Given the description of an element on the screen output the (x, y) to click on. 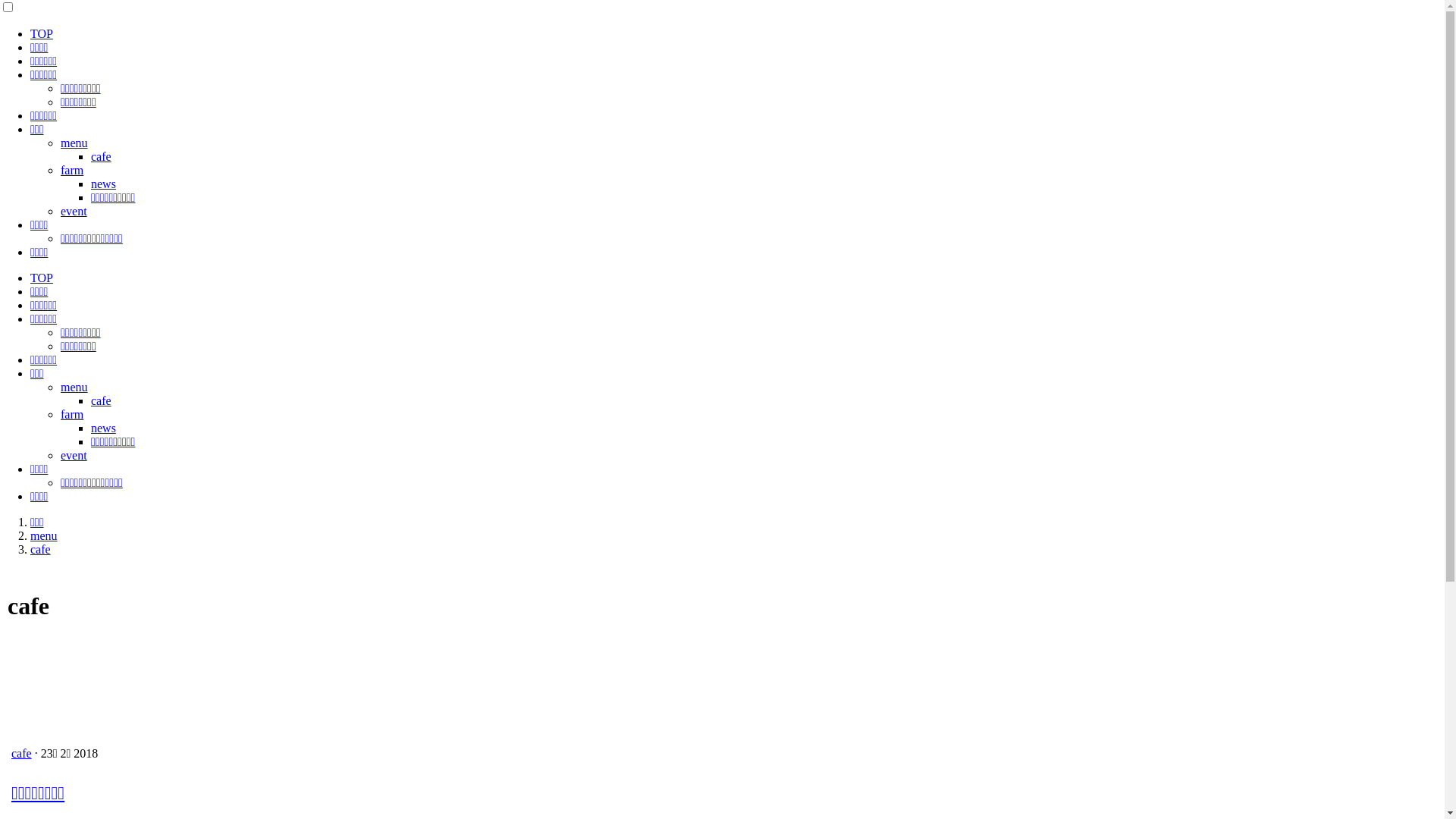
cafe Element type: text (40, 548)
cafe Element type: text (101, 156)
farm Element type: text (71, 169)
cafe Element type: text (21, 752)
event Element type: text (73, 210)
menu Element type: text (73, 386)
event Element type: text (73, 454)
news Element type: text (103, 427)
news Element type: text (103, 183)
menu Element type: text (73, 142)
TOP Element type: text (41, 277)
menu Element type: text (43, 535)
cafe Element type: text (101, 400)
farm Element type: text (71, 413)
TOP Element type: text (41, 33)
